Given the description of an element on the screen output the (x, y) to click on. 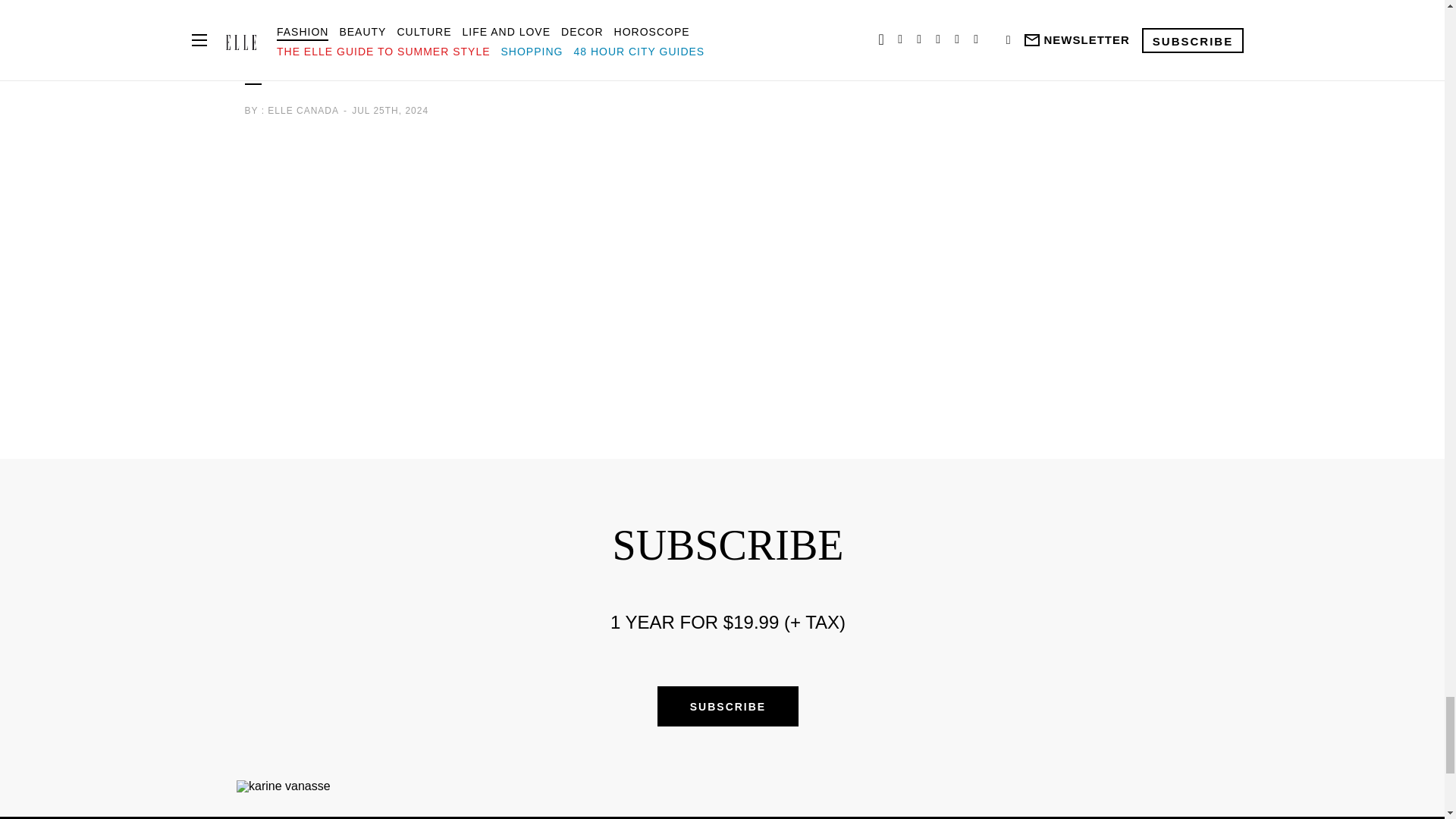
SUBSCRIBE (727, 706)
